Given the description of an element on the screen output the (x, y) to click on. 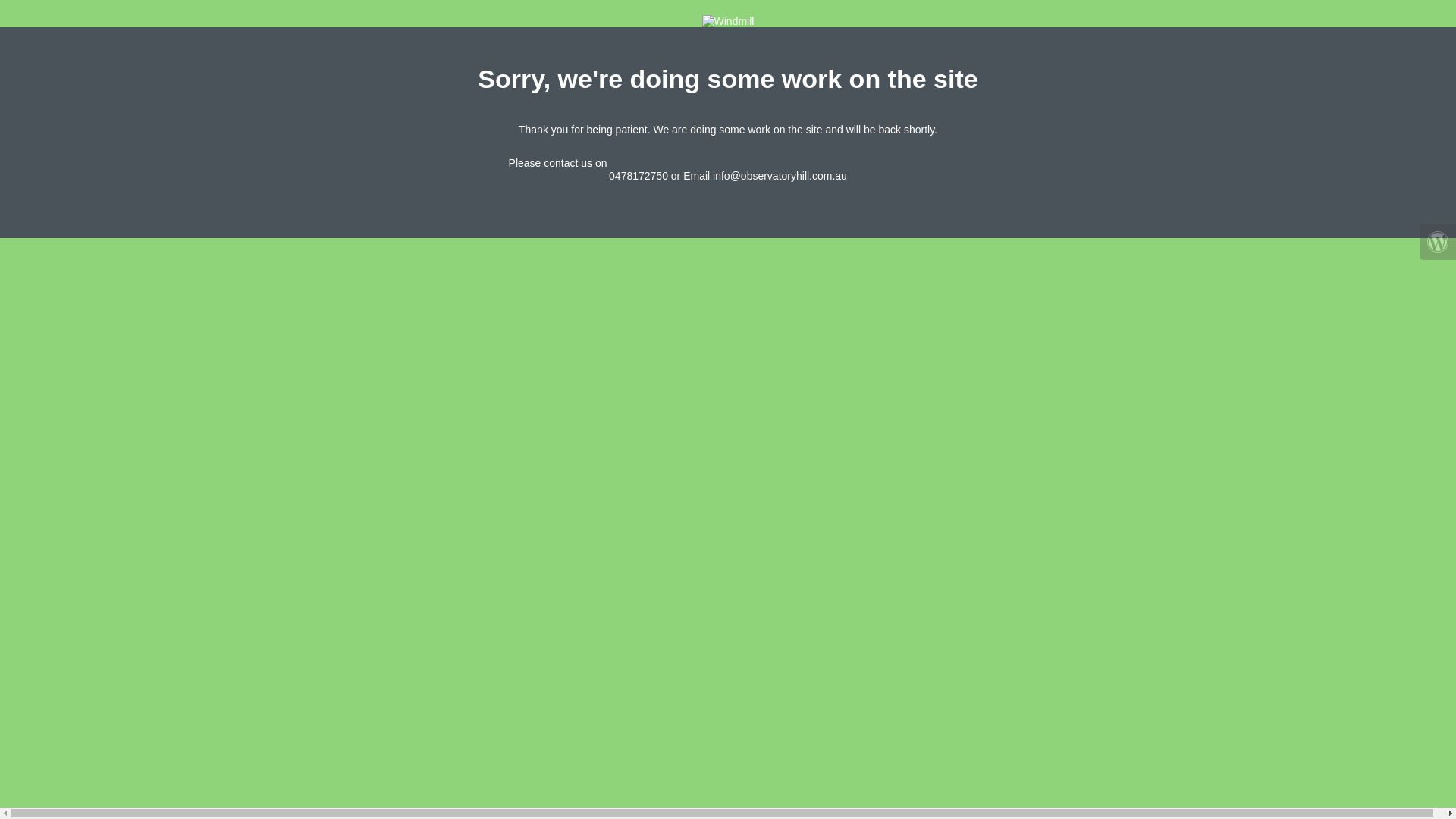
info@observatoryhill.com.au Element type: text (779, 175)
Windmill Element type: hover (728, 21)
